Given the description of an element on the screen output the (x, y) to click on. 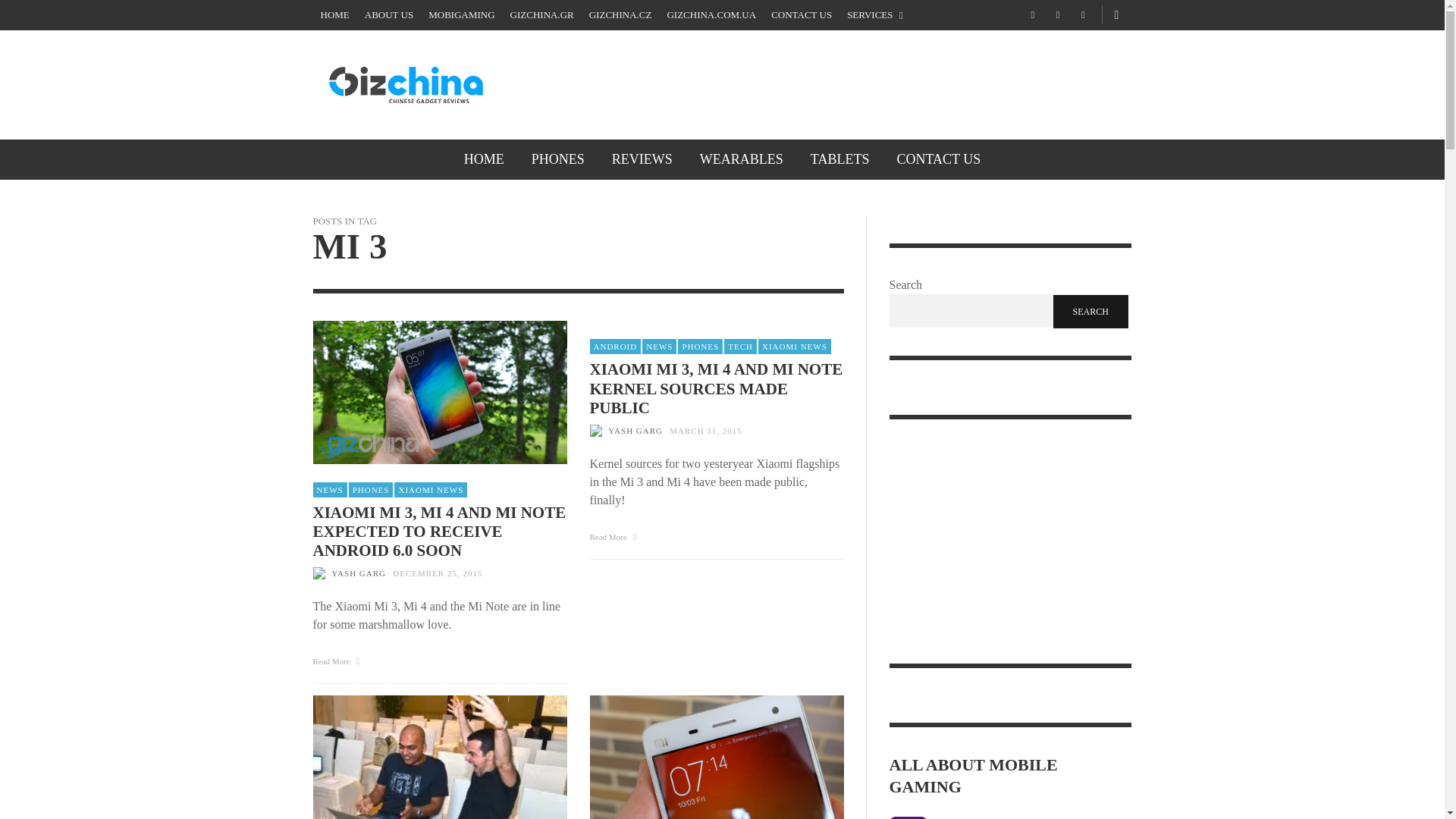
GIZCHINA.COM.UA (710, 15)
CONTACT US (801, 15)
REVIEWS (641, 159)
ABOUT US (388, 15)
HOME (334, 15)
GIZCHINA.CZ (619, 15)
SERVICES (875, 15)
HOME (483, 159)
GIZCHINA.GR (541, 15)
MOBIGAMING (461, 15)
PHONES (558, 159)
